Given the description of an element on the screen output the (x, y) to click on. 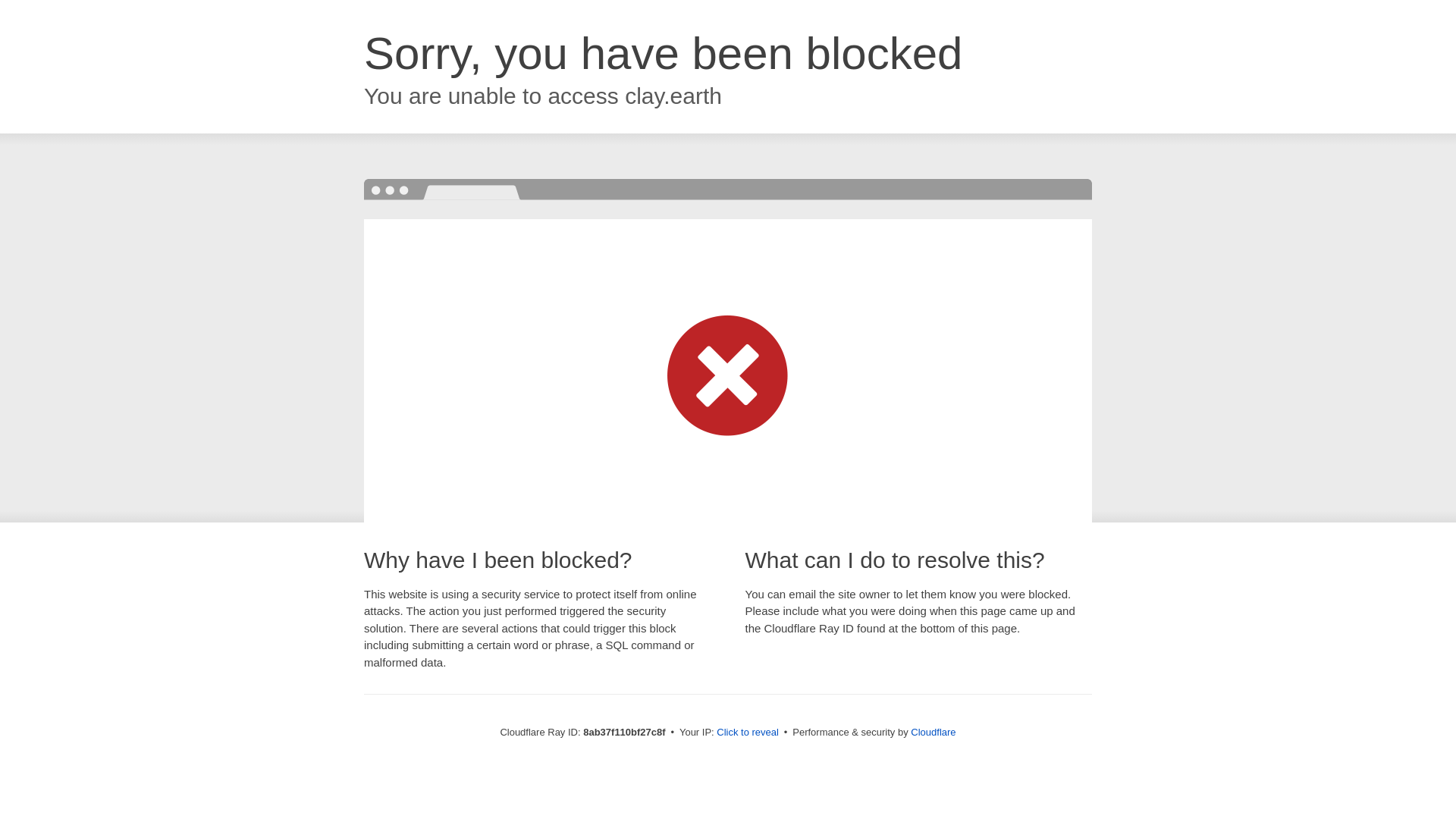
Cloudflare (933, 731)
Click to reveal (747, 732)
